Given the description of an element on the screen output the (x, y) to click on. 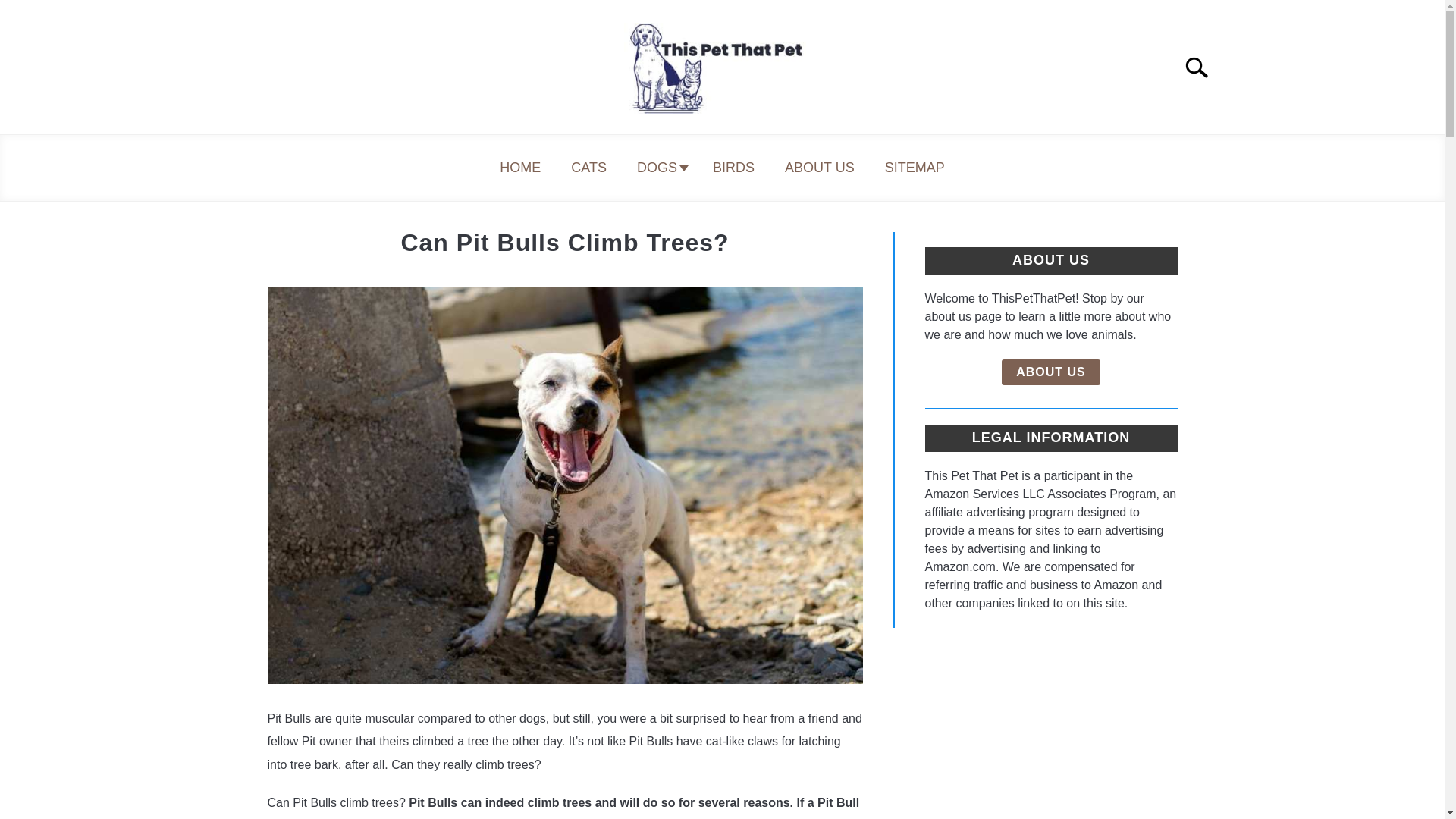
ABOUT US (819, 167)
DOGS (659, 167)
BIRDS (733, 167)
CATS (588, 167)
SITEMAP (914, 167)
ABOUT US (1050, 371)
HOME (520, 167)
Search (1203, 67)
